Given the description of an element on the screen output the (x, y) to click on. 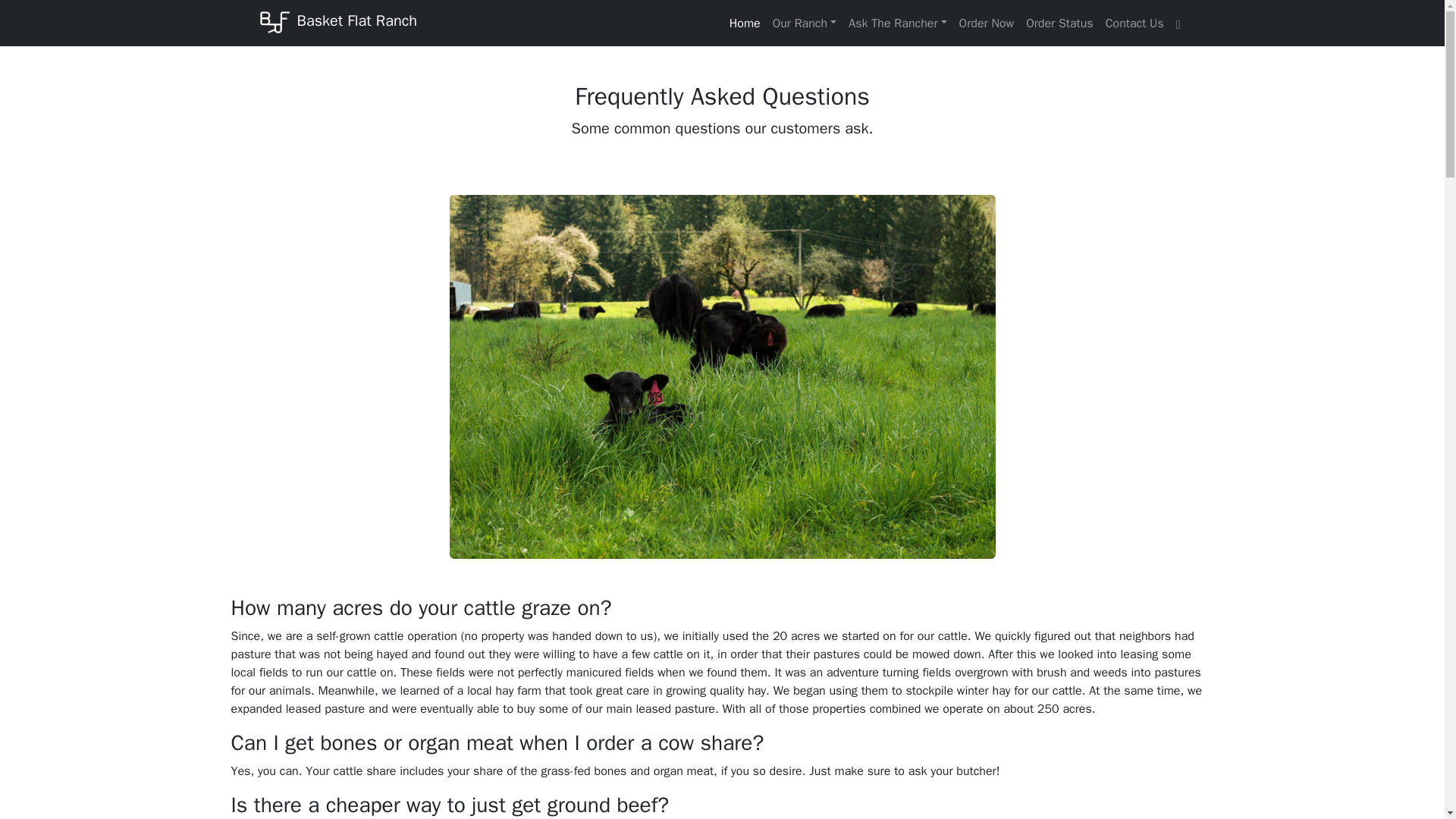
Order Status (1059, 22)
Contact Us (1134, 22)
Ask The Rancher (897, 22)
Our Ranch (805, 22)
Basket Flat Ranch (336, 22)
Order Now (986, 22)
Home (745, 22)
